Given the description of an element on the screen output the (x, y) to click on. 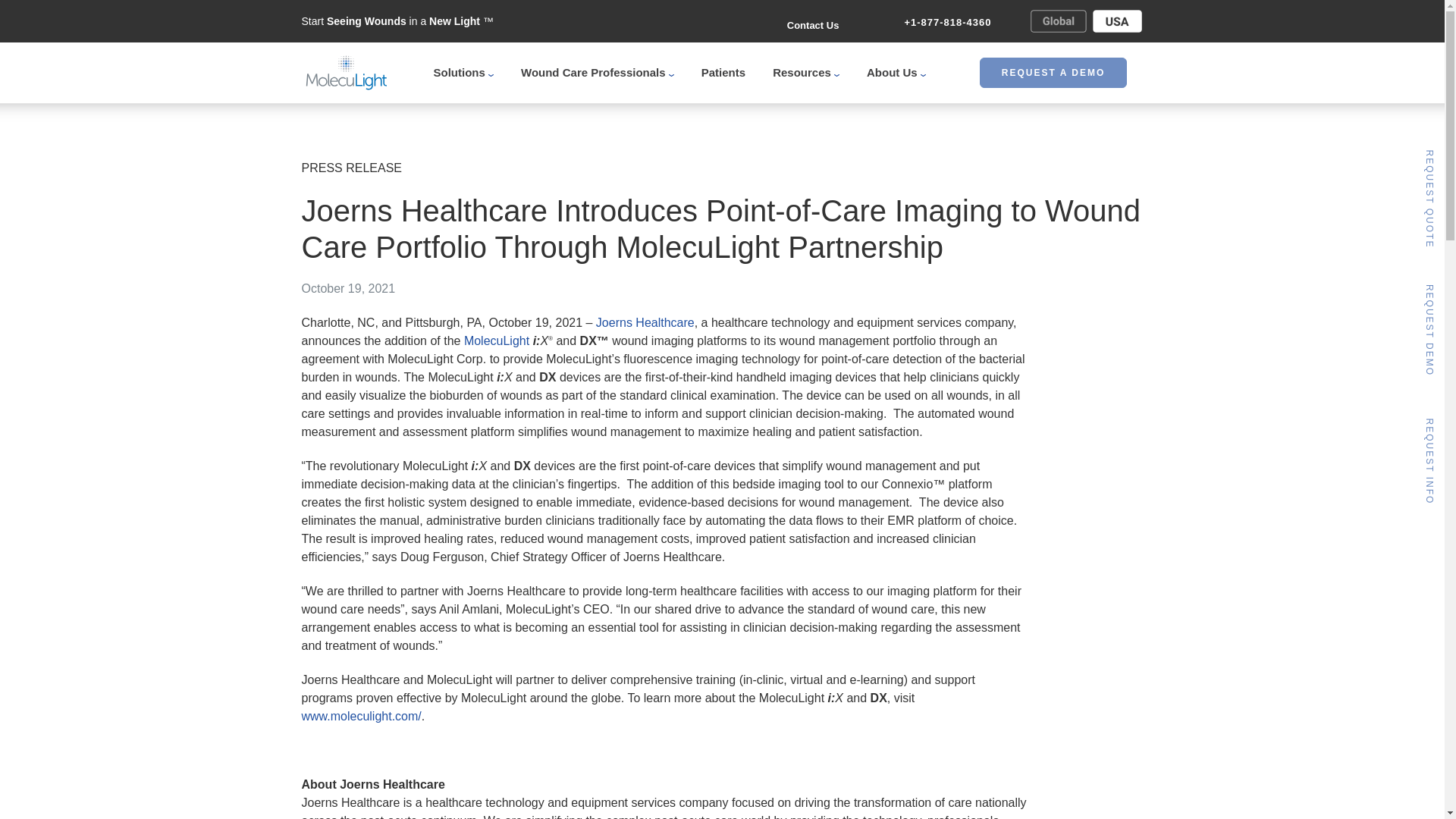
Select Region: Rest of World (1058, 20)
Select Region: United States (1117, 20)
Solutions (464, 72)
Resources (806, 72)
Wound Care Professionals (597, 72)
